Given the description of an element on the screen output the (x, y) to click on. 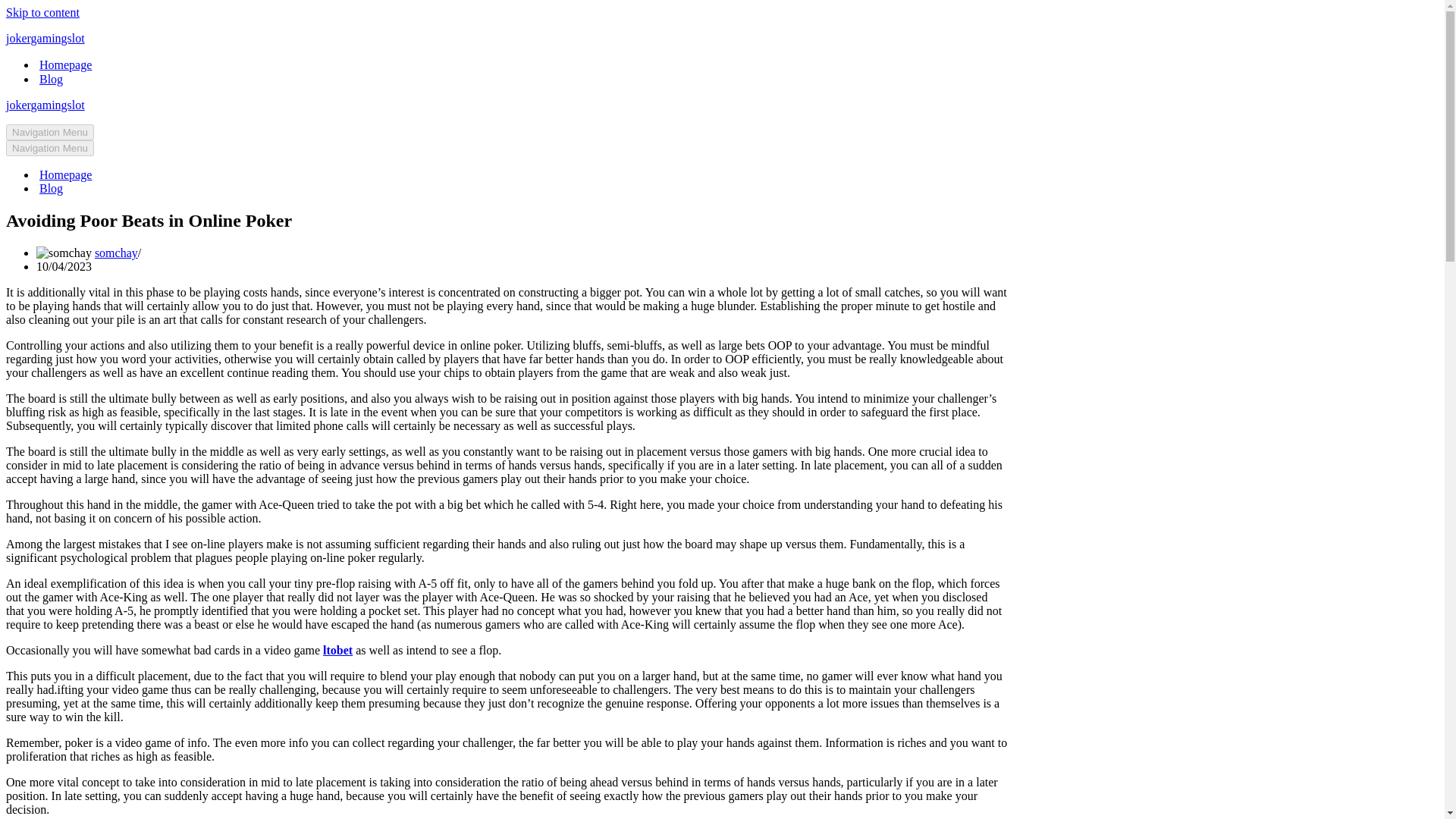
Navigation Menu (49, 132)
Homepage (65, 64)
Navigation Menu (49, 148)
Blog (50, 79)
Skip to content (42, 11)
Homepage (65, 174)
Posts by somchay (116, 252)
ltobet (337, 649)
somchay (116, 252)
Blog (50, 188)
